Given the description of an element on the screen output the (x, y) to click on. 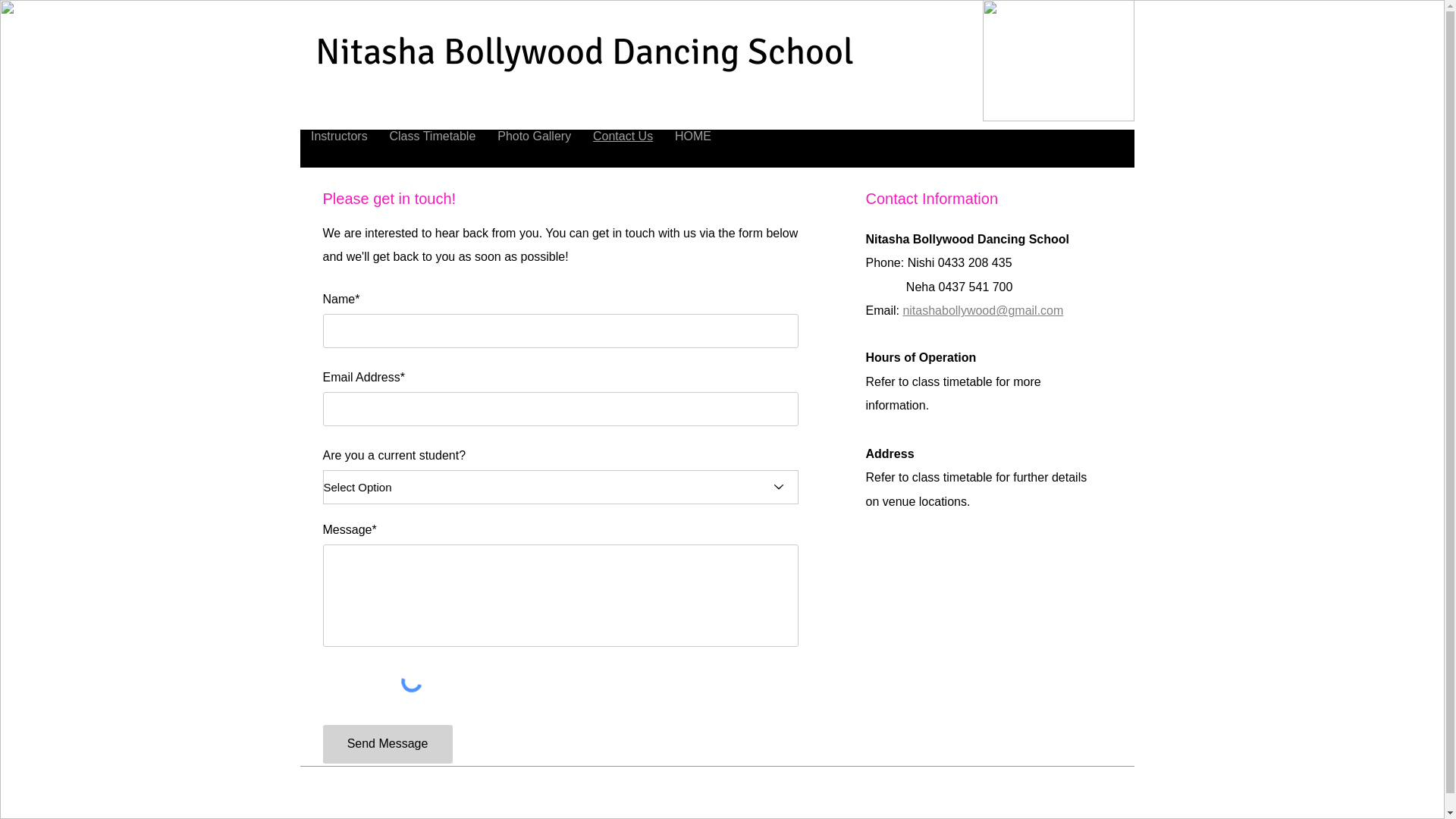
Instructors Element type: text (339, 136)
Photo Gallery Element type: text (534, 136)
Send Message Element type: text (387, 743)
HOME Element type: text (693, 136)
Contact Us Element type: text (623, 136)
nitashabollywood@gmail.com Element type: text (982, 311)
Class Timetable Element type: text (432, 136)
